Given the description of an element on the screen output the (x, y) to click on. 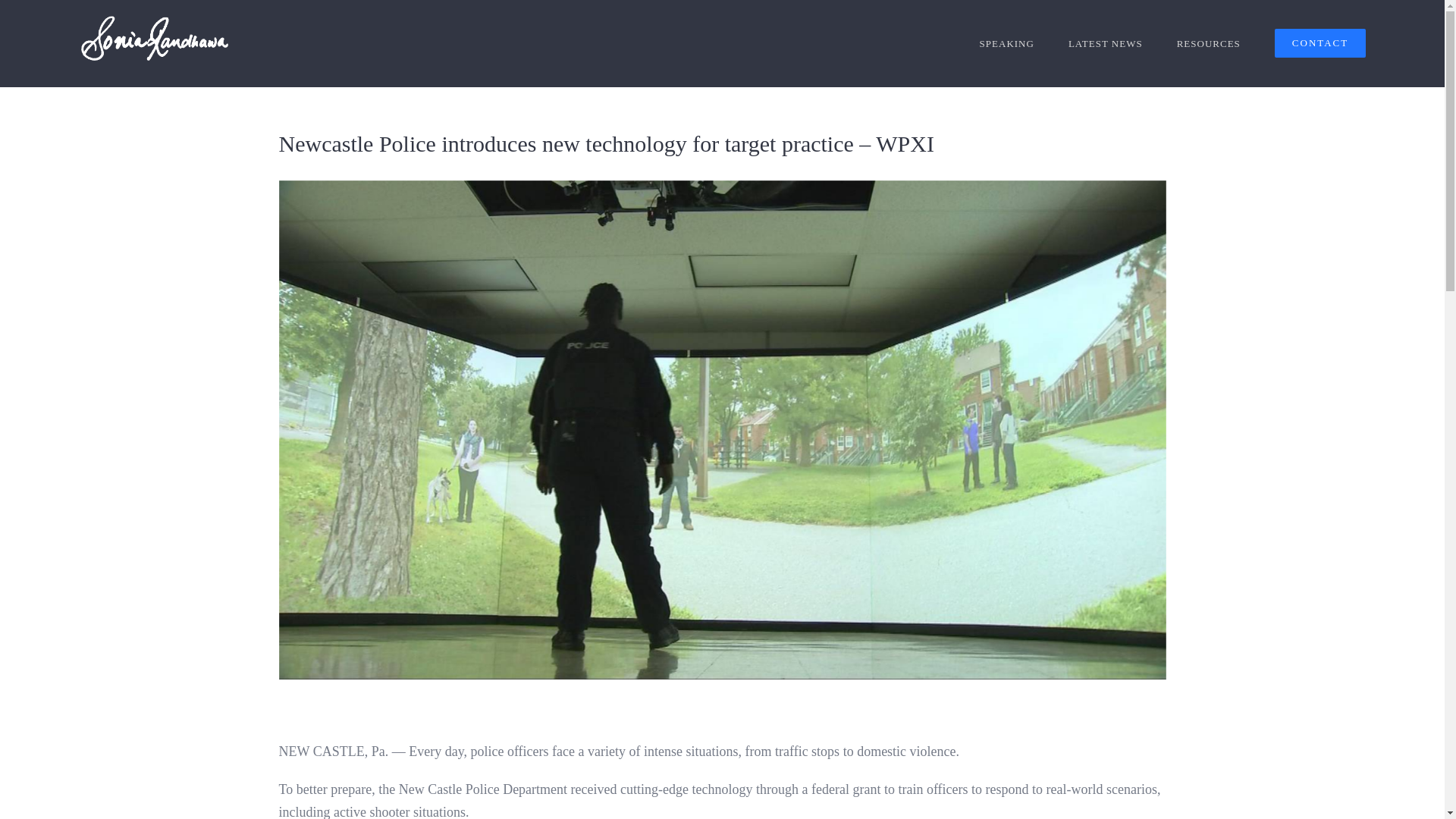
CONTACT (1320, 42)
SPEAKING (1006, 42)
LATEST NEWS (1105, 42)
RESOURCES (1208, 42)
